Given the description of an element on the screen output the (x, y) to click on. 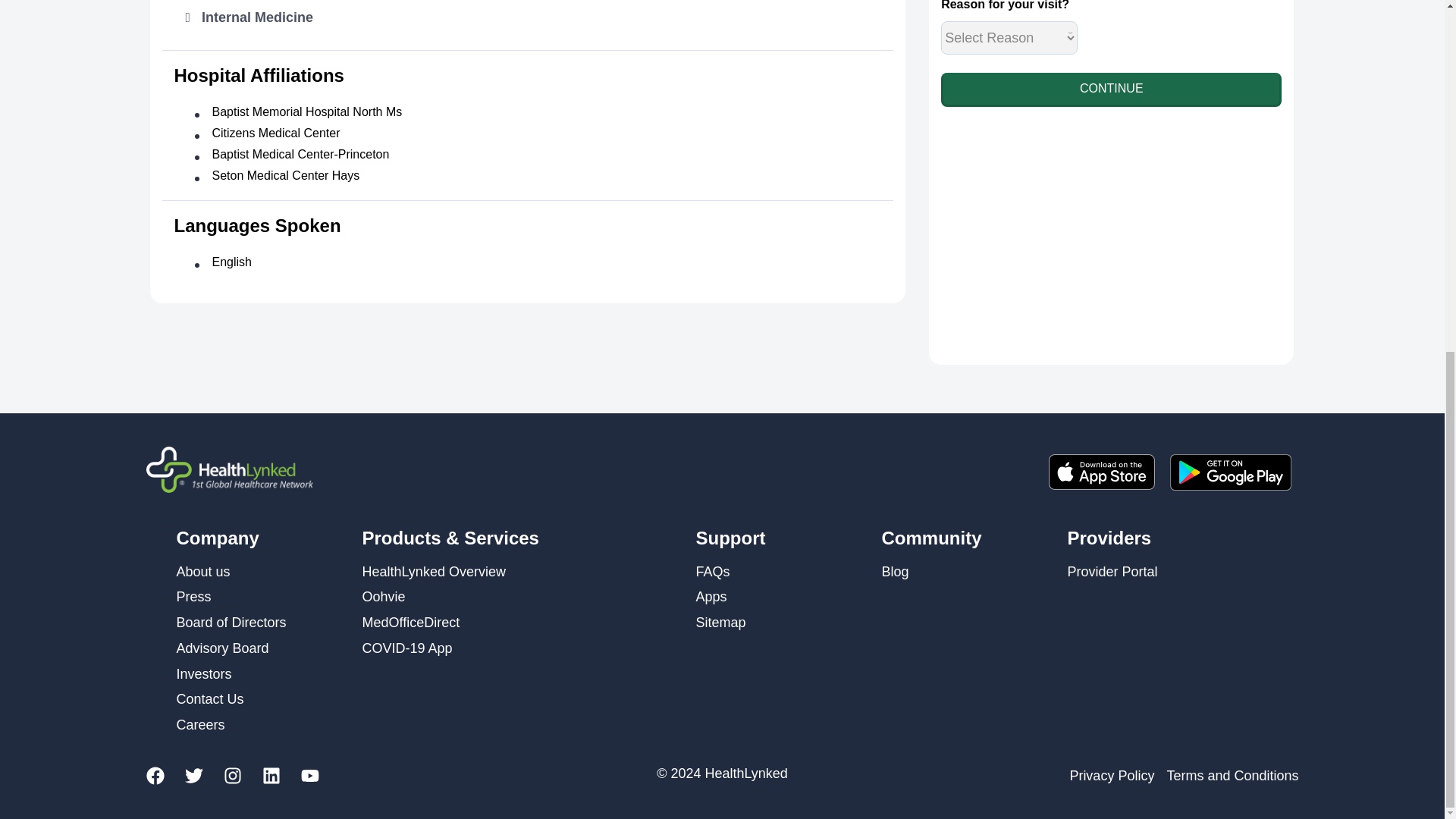
CONTINUE (1110, 89)
